Given the description of an element on the screen output the (x, y) to click on. 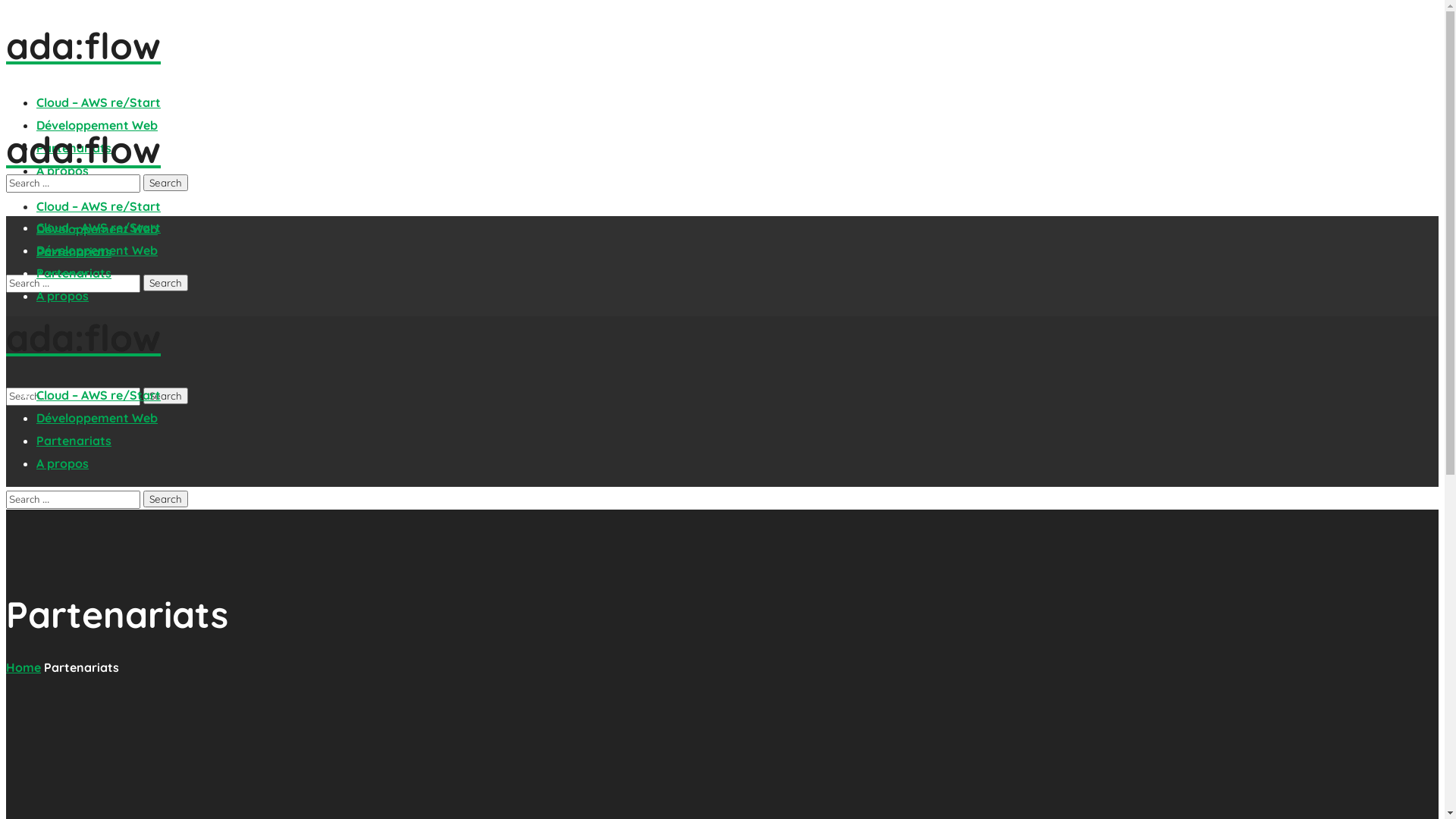
ada:flow Element type: text (722, 149)
ada:flow Element type: text (722, 337)
Partenariats Element type: text (73, 272)
Search Element type: text (165, 282)
Search Element type: text (165, 395)
Search Element type: text (165, 498)
Home Element type: text (23, 666)
A propos Element type: text (62, 295)
A propos Element type: text (62, 462)
Partenariats Element type: text (73, 440)
A propos Element type: text (62, 170)
ada:flow Element type: text (722, 45)
Partenariats Element type: text (73, 147)
Partenariats Element type: text (73, 251)
A propos Element type: text (62, 274)
Search Element type: text (165, 182)
